Given the description of an element on the screen output the (x, y) to click on. 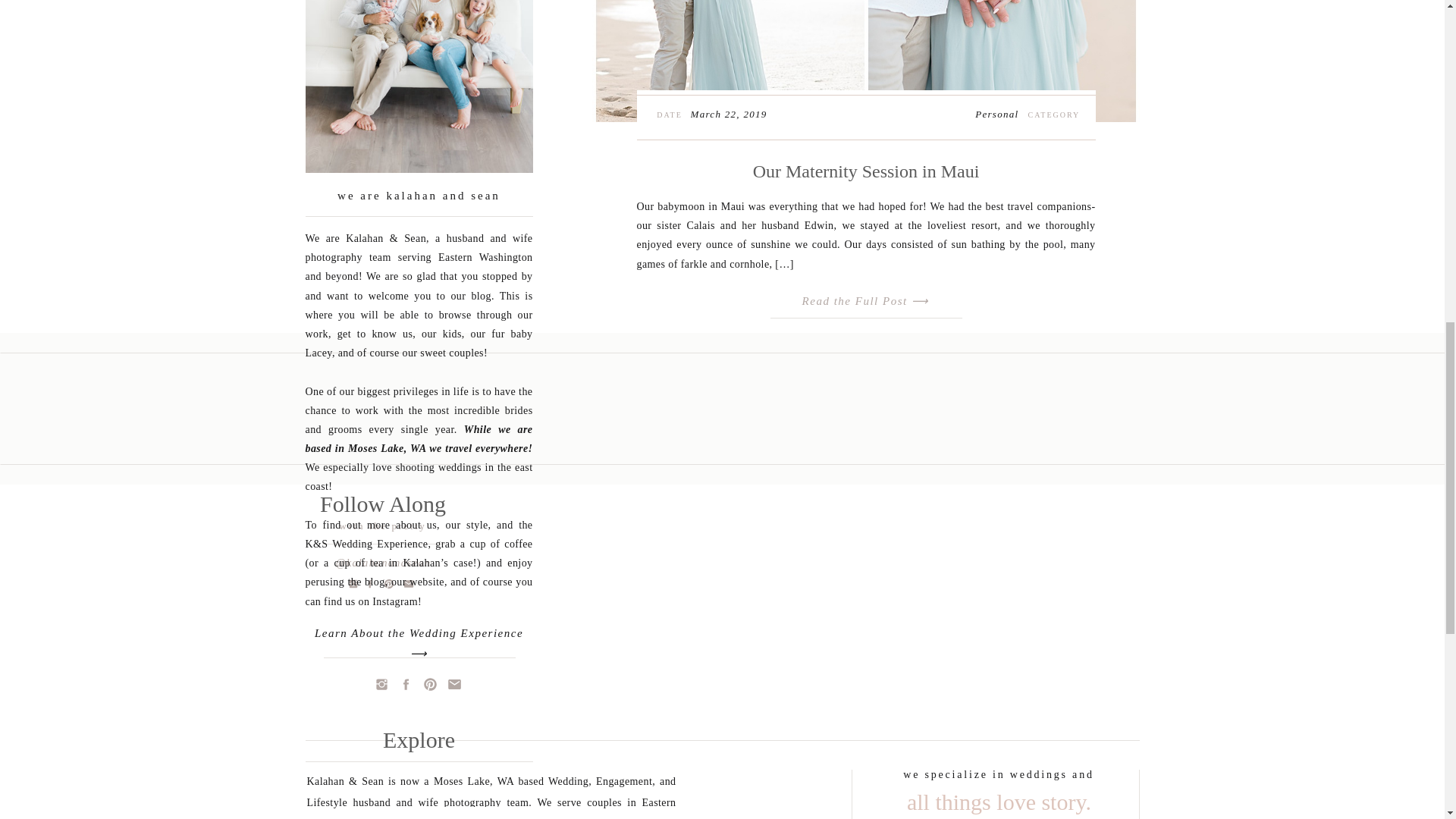
Personal (996, 113)
Our Maternity Session in Maui (864, 61)
Our Maternity Session in Maui (865, 170)
Our Maternity Session in Maui (865, 297)
weddings (419, 818)
